Given the description of an element on the screen output the (x, y) to click on. 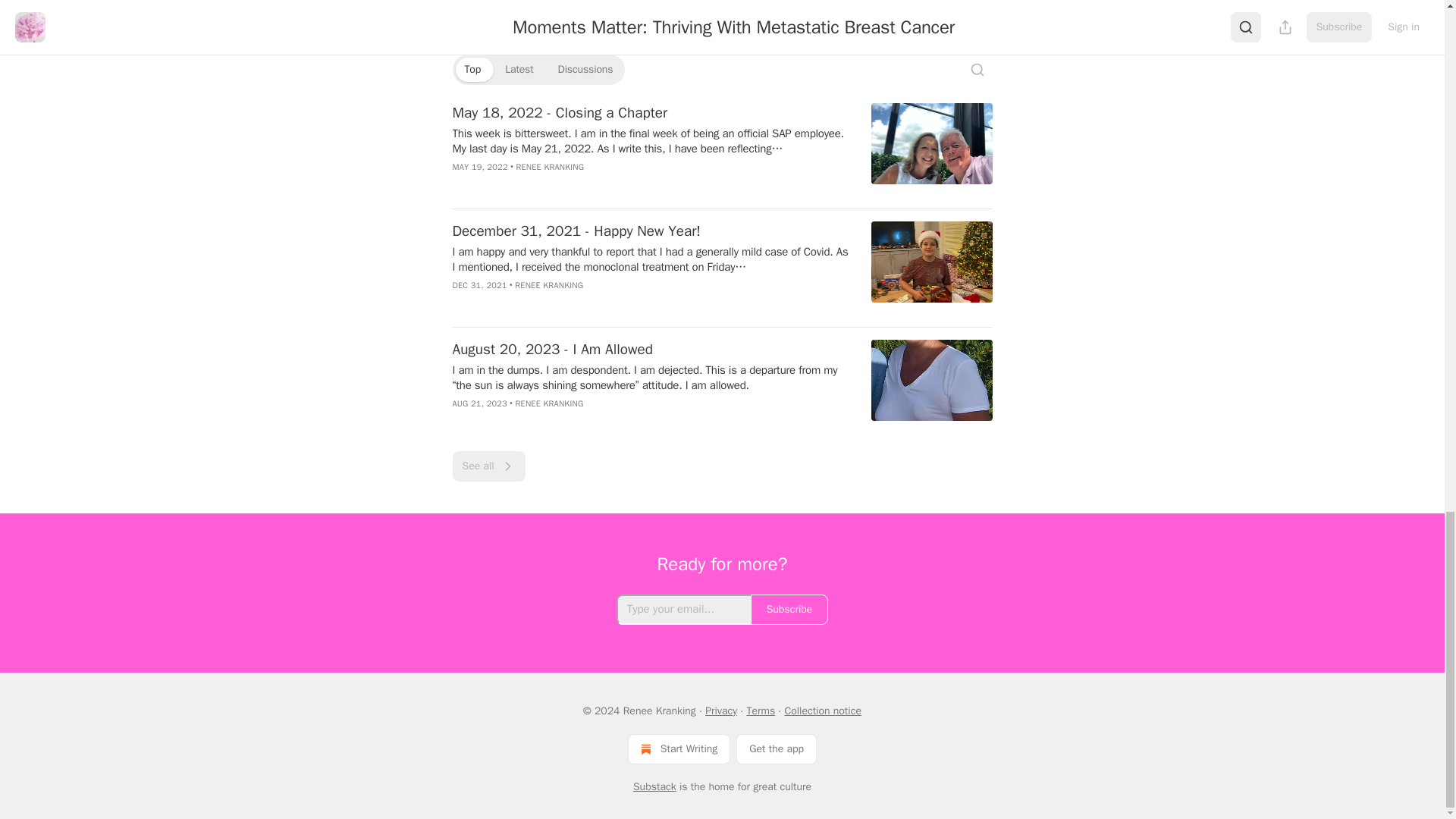
Latest (518, 69)
Discussions (585, 69)
Top (471, 69)
May 18, 2022 - Closing a Chapter (651, 112)
